Given the description of an element on the screen output the (x, y) to click on. 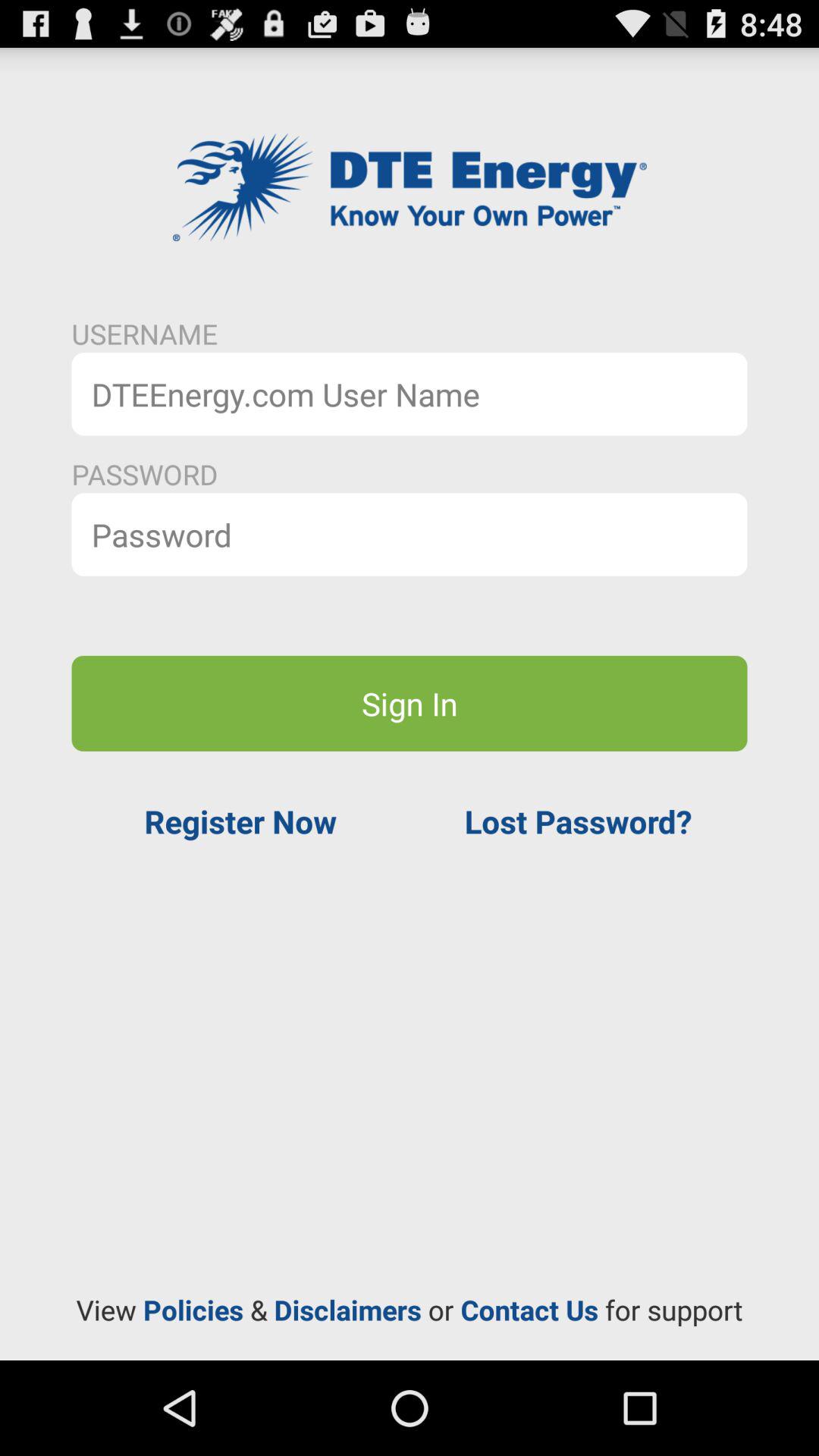
select the app to the left of lost password? app (240, 821)
